Given the description of an element on the screen output the (x, y) to click on. 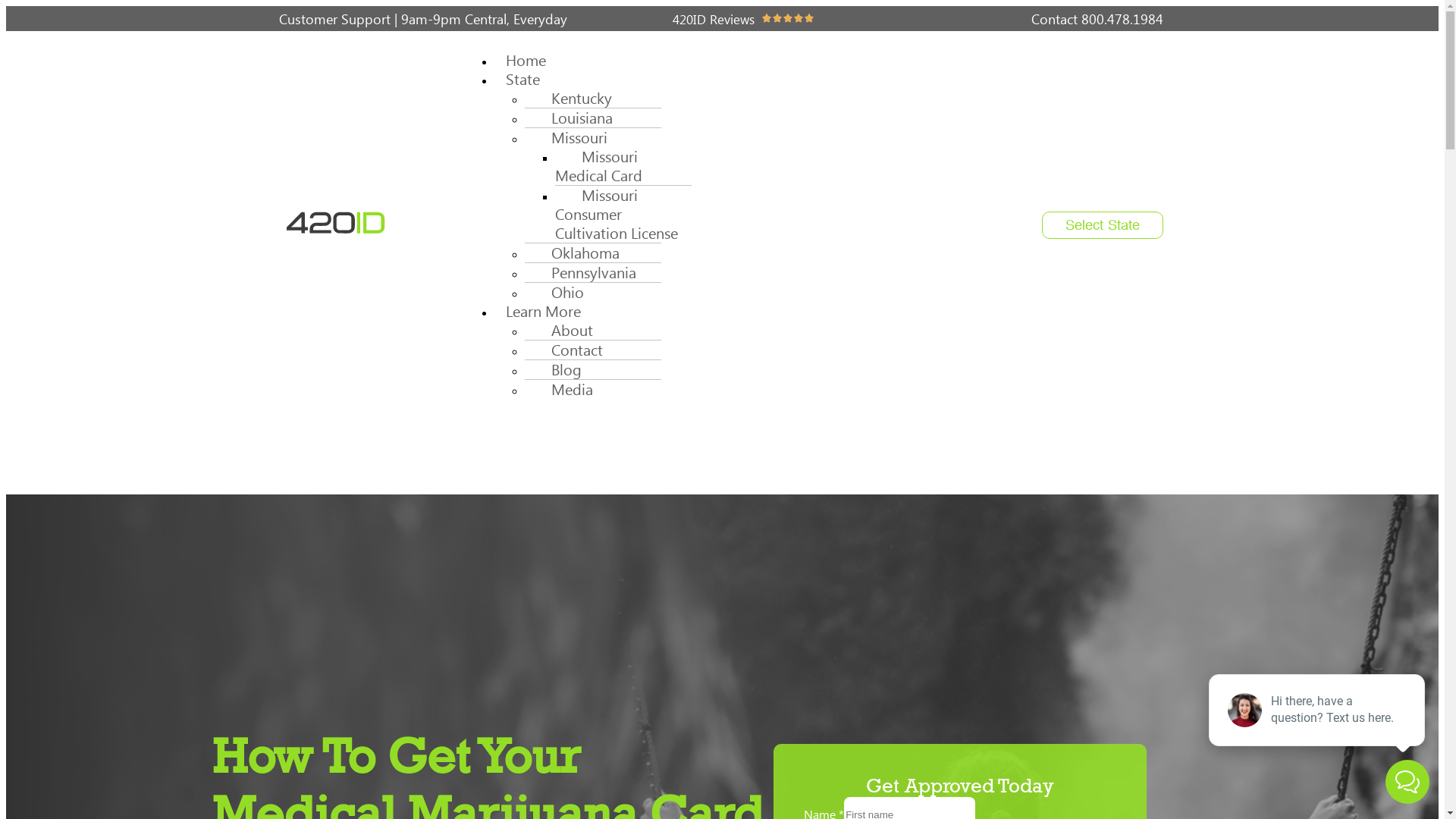
Louisiana Element type: text (574, 117)
Learn More Element type: text (543, 311)
Select State Element type: text (1102, 224)
Contact Element type: text (569, 349)
Missouri Medical Card Element type: text (604, 165)
About Element type: text (564, 330)
Pennsylvania Element type: text (585, 272)
Missouri Element type: text (571, 137)
Oklahoma Element type: text (577, 252)
Missouri Consumer Cultivation License Element type: text (622, 214)
State Element type: text (522, 79)
Contact 800.478.1984 Element type: text (1097, 18)
Home Element type: text (525, 60)
Blog Element type: text (558, 369)
Ohio Element type: text (559, 292)
Media Element type: text (564, 389)
Kentucky Element type: text (573, 98)
